Given the description of an element on the screen output the (x, y) to click on. 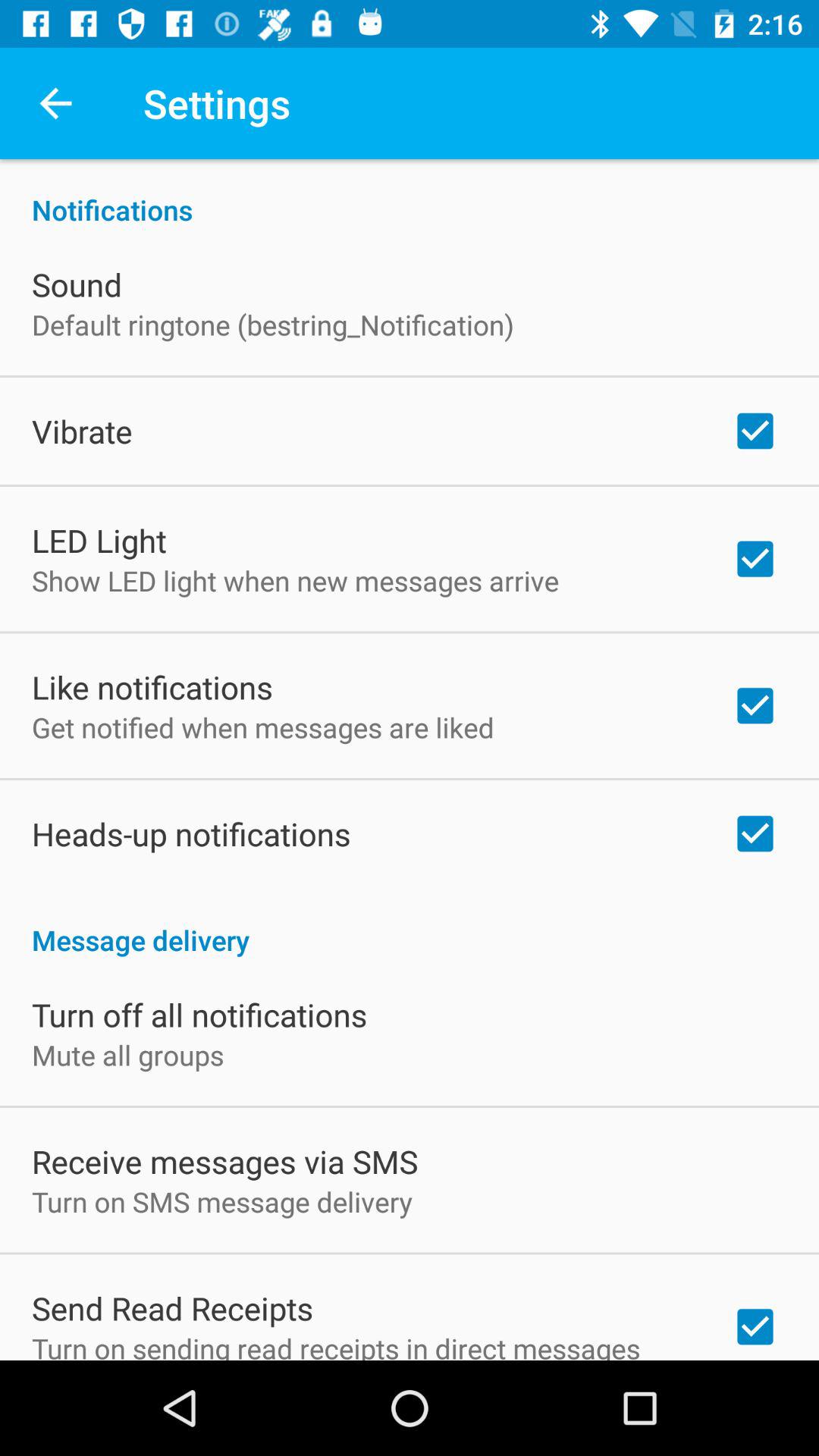
press icon above notifications item (55, 103)
